Given the description of an element on the screen output the (x, y) to click on. 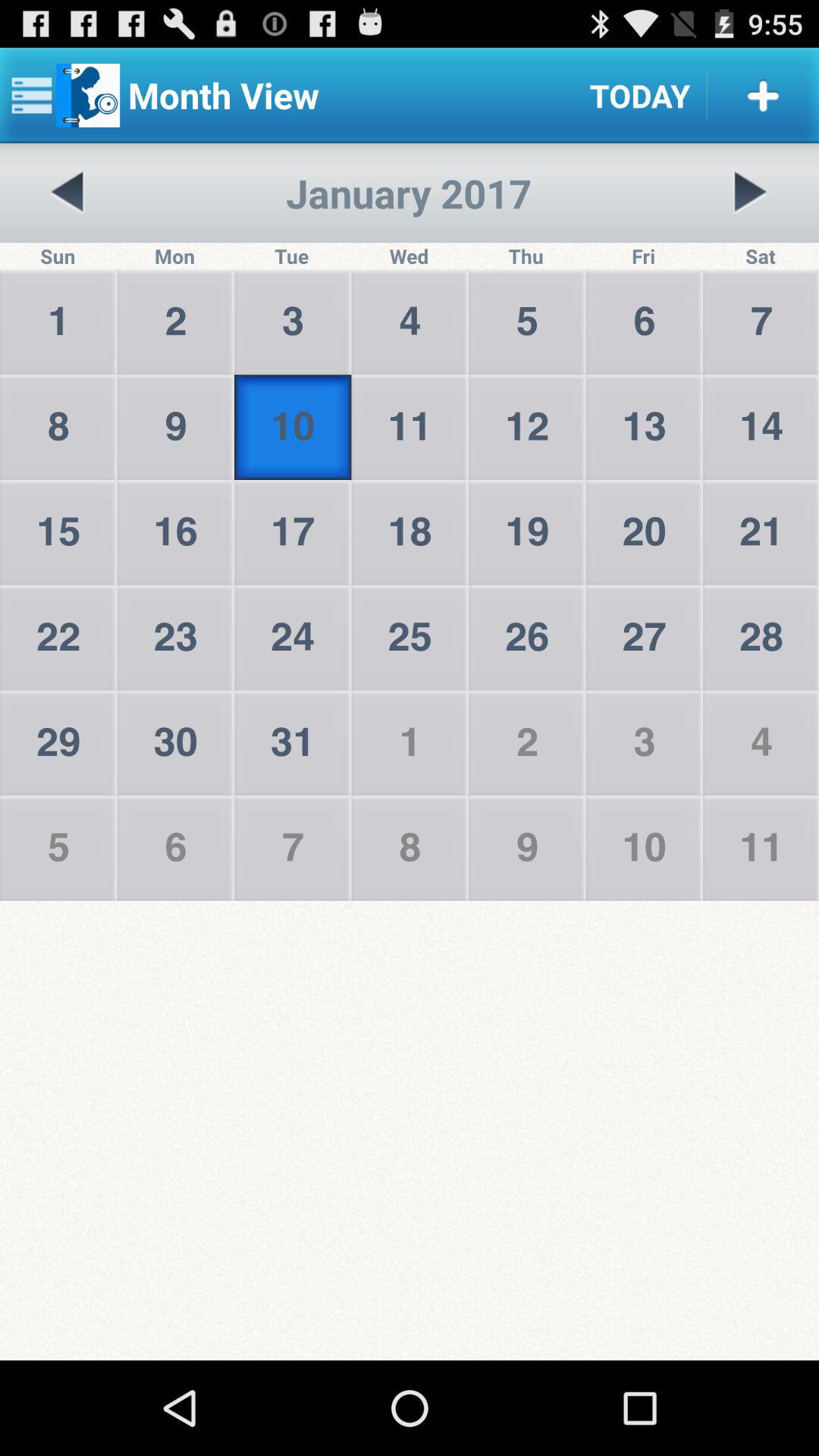
tap the item below the today (750, 192)
